Given the description of an element on the screen output the (x, y) to click on. 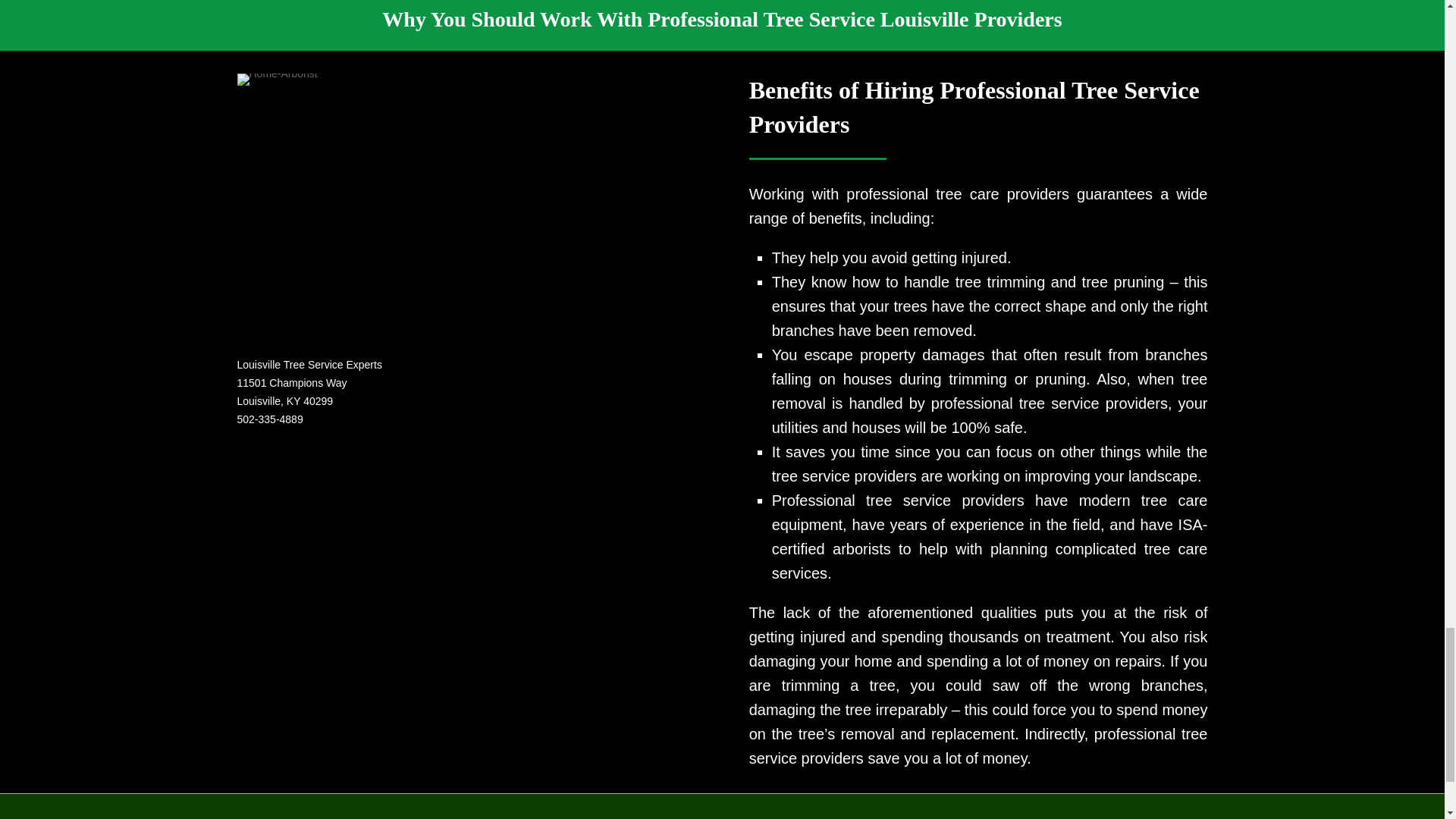
YouTube video player (387, 572)
Home-Arborist (276, 79)
